Given the description of an element on the screen output the (x, y) to click on. 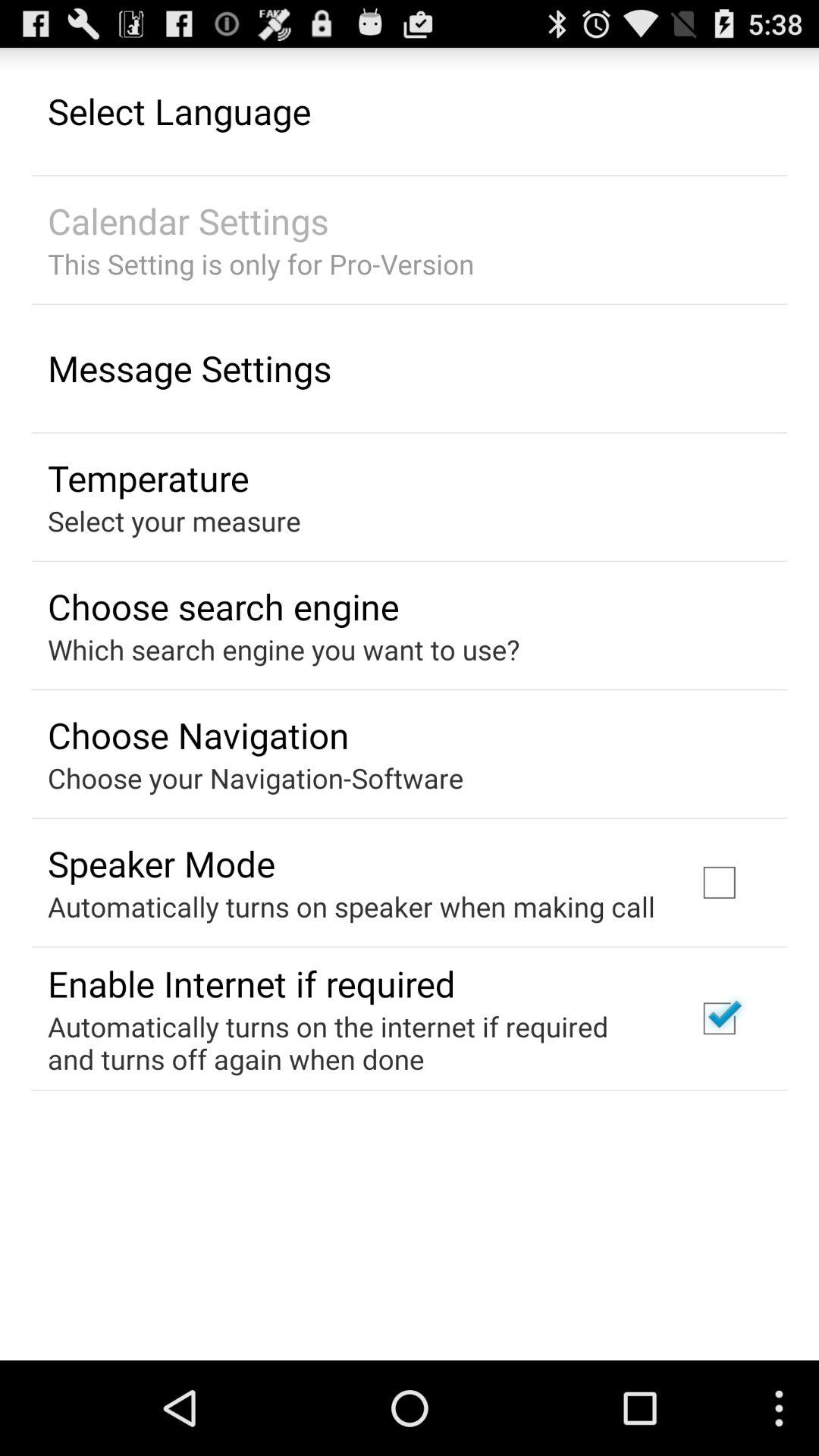
select app below the select language app (187, 220)
